Given the description of an element on the screen output the (x, y) to click on. 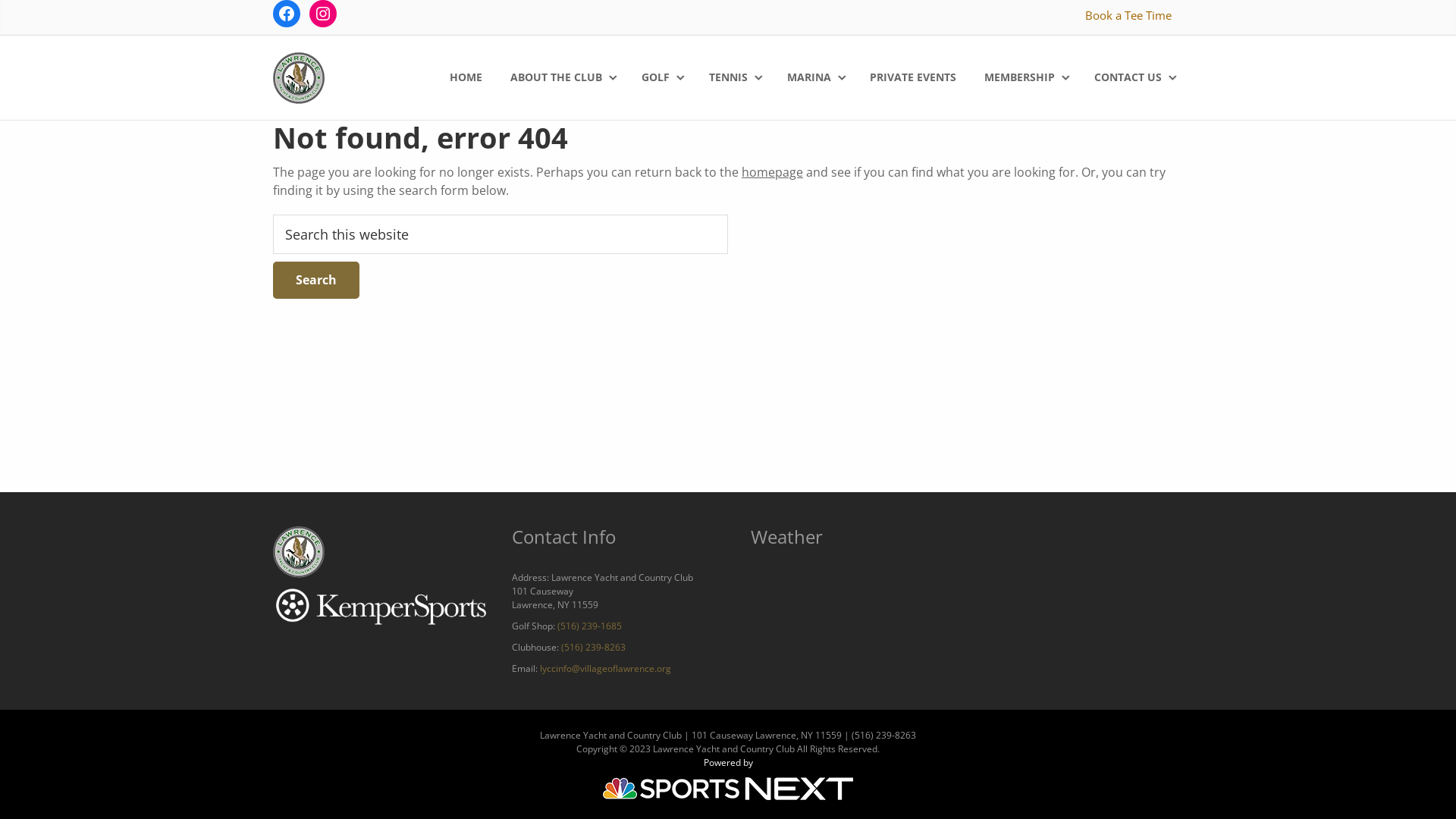
GOLF Element type: text (661, 77)
Skip to primary navigation Element type: text (0, 0)
Facebook Element type: text (286, 13)
HOME Element type: text (467, 76)
ABOUT THE CLUB Element type: text (562, 77)
lyccinfo@villageoflawrence.org Element type: text (605, 668)
MARINA Element type: text (815, 77)
(516) 239-1685 Element type: text (589, 625)
homepage Element type: text (772, 171)
Book a Tee Time Element type: text (1128, 15)
(516) 239-8263 Element type: text (593, 646)
MEMBERSHIP Element type: text (1025, 77)
Search Element type: text (316, 279)
PRIVATE EVENTS Element type: text (914, 76)
CONTACT US Element type: text (1134, 77)
TENNIS Element type: text (734, 77)
Instagram Element type: text (322, 13)
